Given the description of an element on the screen output the (x, y) to click on. 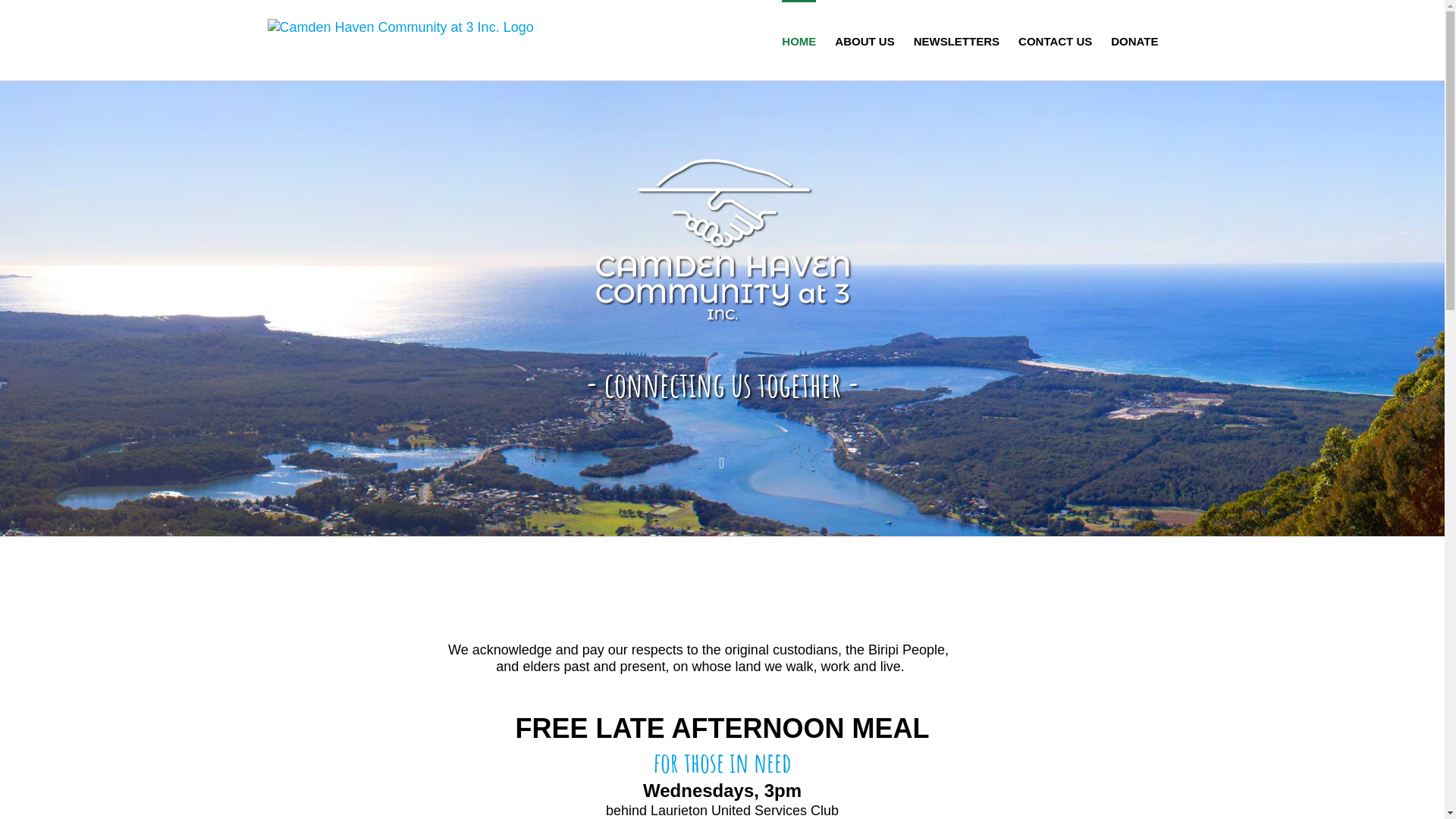
ABOUT US Element type: text (864, 40)
DONATE Element type: text (1133, 40)
HOME Element type: text (798, 40)
CONTACT US Element type: text (1055, 40)
NEWSLETTERS Element type: text (956, 40)
